Given the description of an element on the screen output the (x, y) to click on. 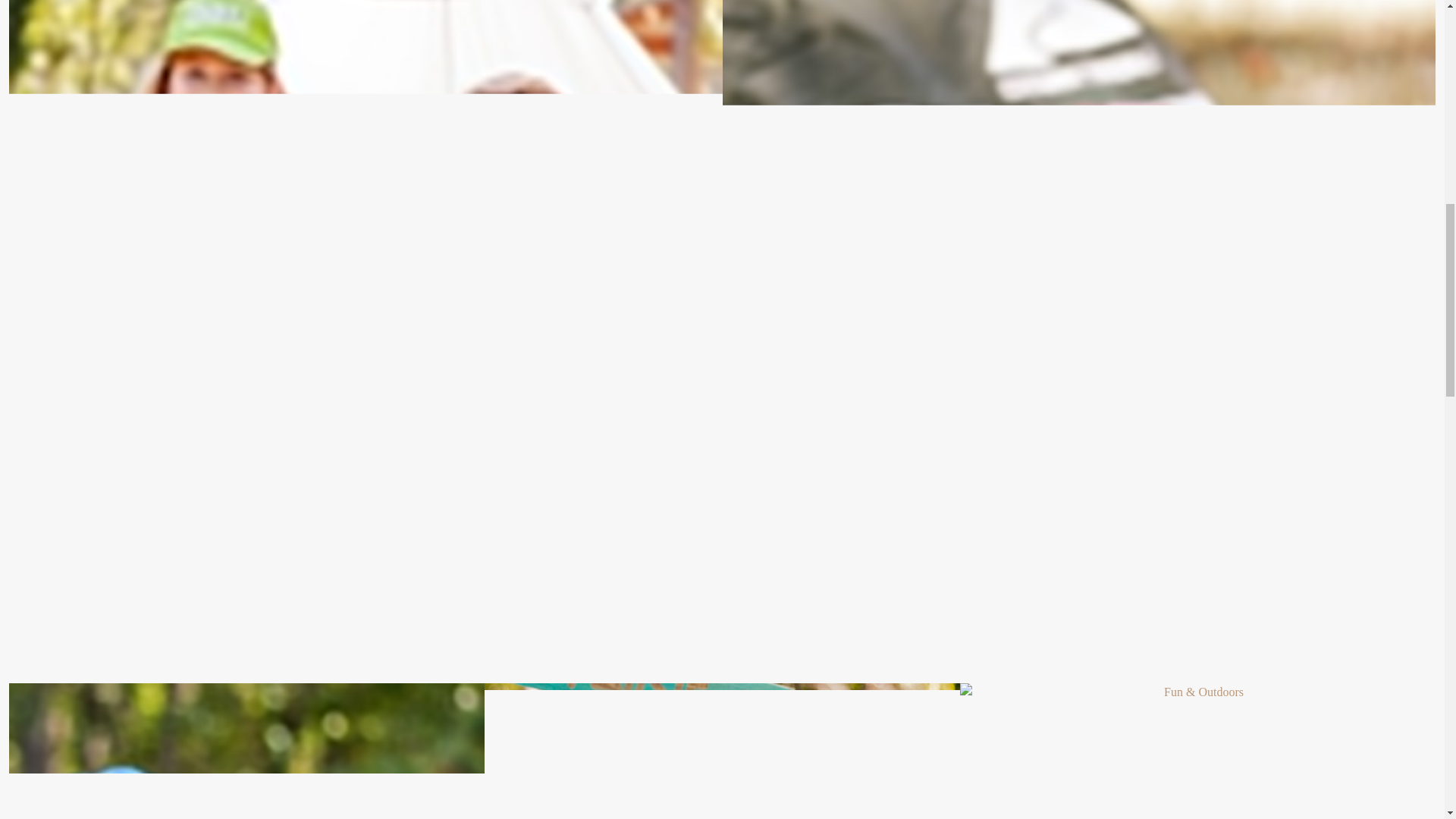
Headwear (246, 751)
Camp Gear (721, 751)
